Given the description of an element on the screen output the (x, y) to click on. 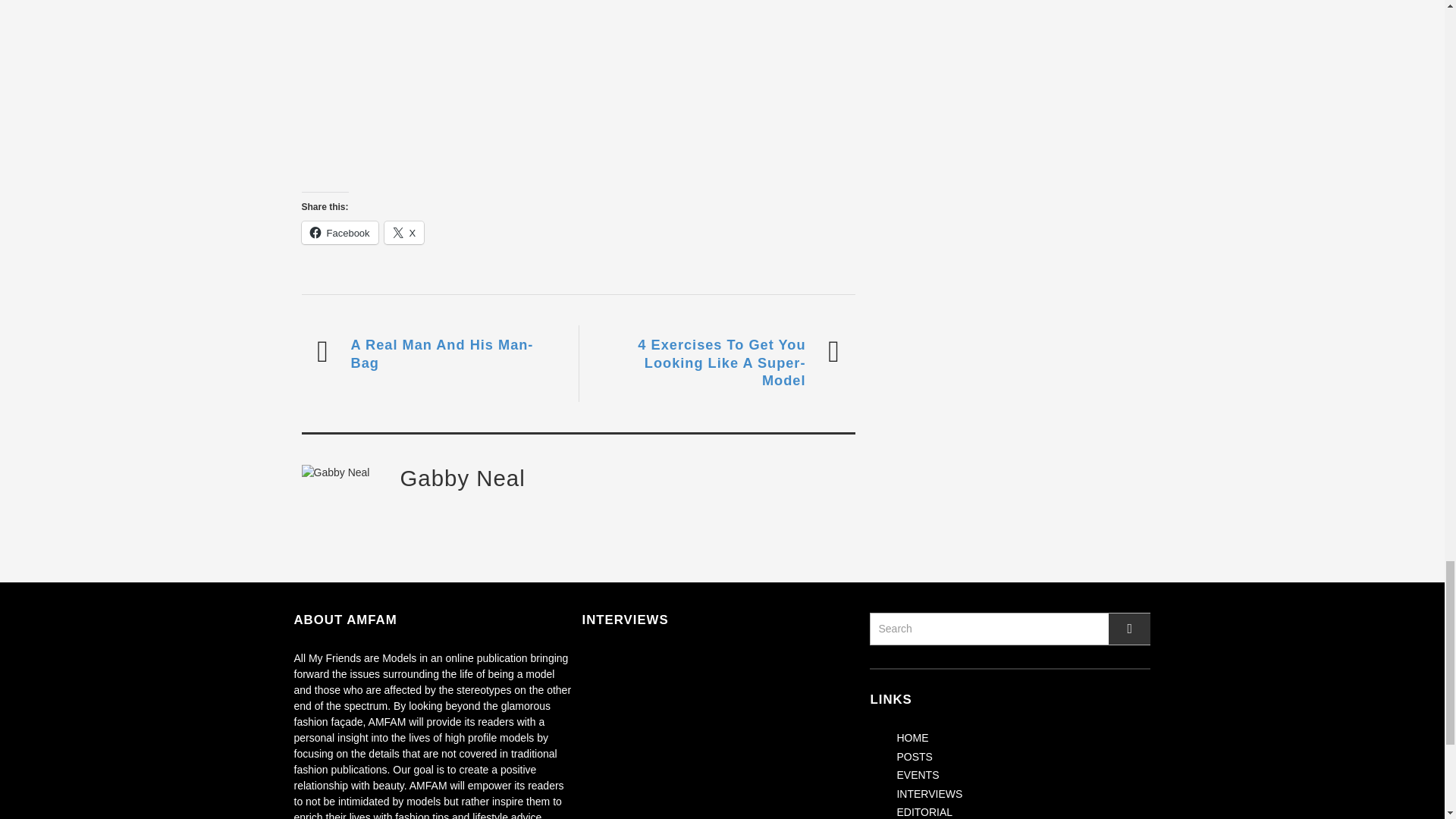
Search (1009, 628)
